Given the description of an element on the screen output the (x, y) to click on. 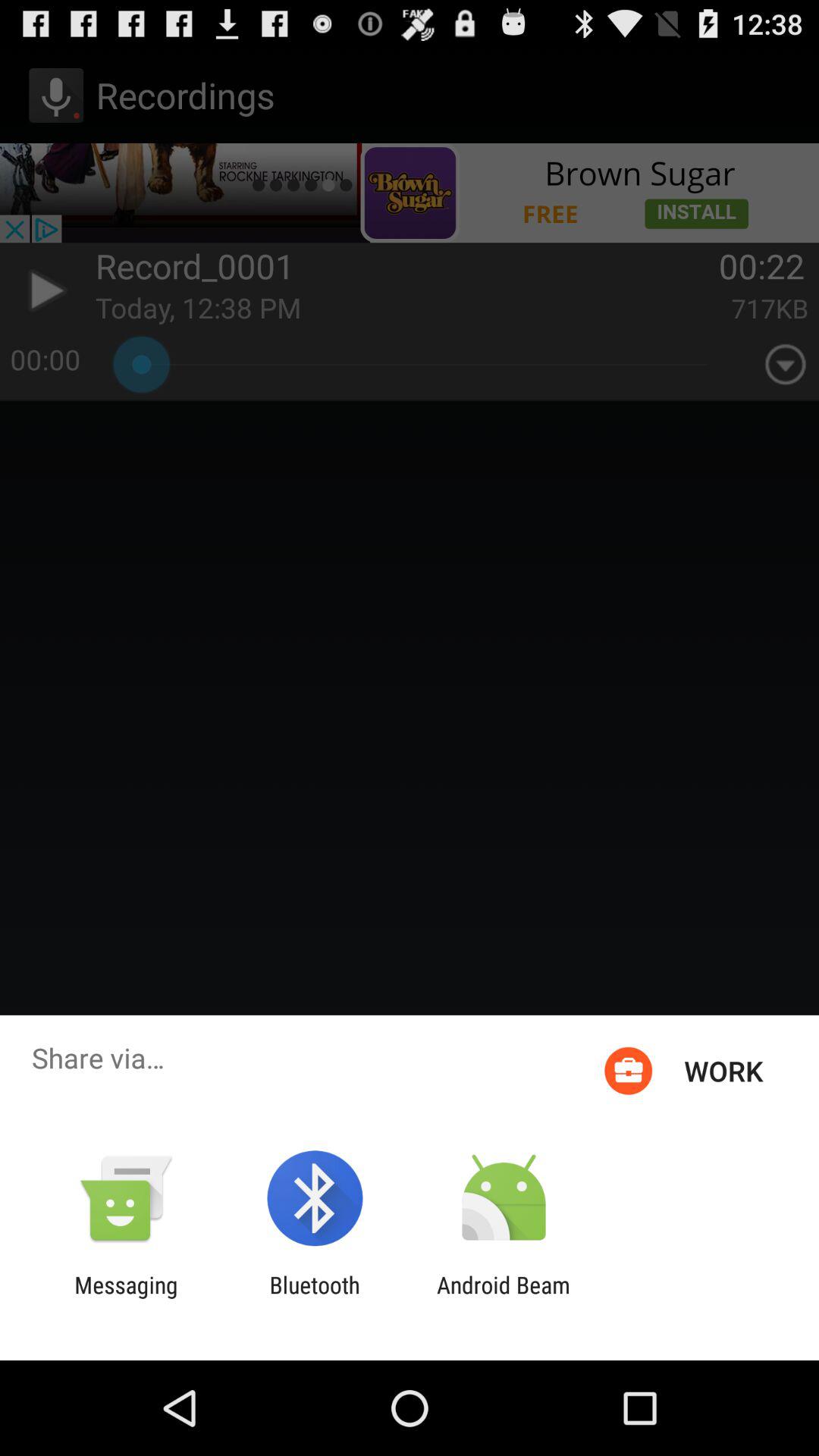
turn on icon next to messaging icon (314, 1298)
